Given the description of an element on the screen output the (x, y) to click on. 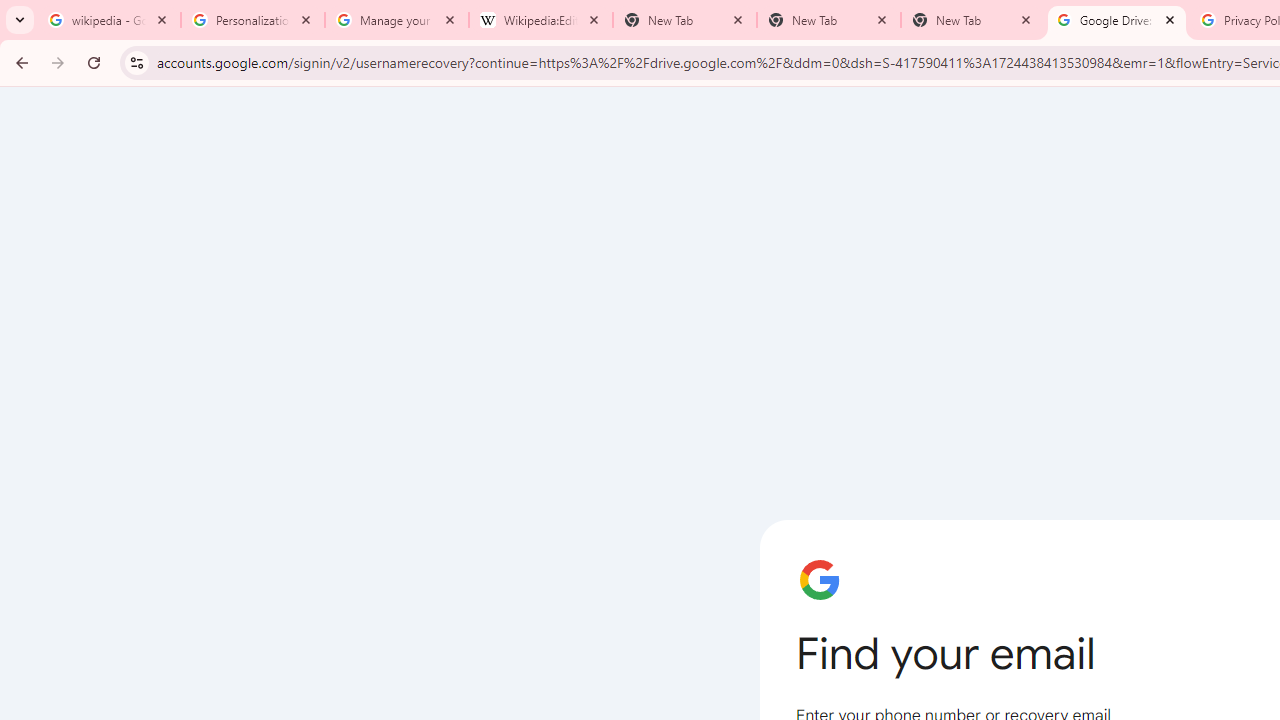
Manage your Location History - Google Search Help (396, 20)
Personalization & Google Search results - Google Search Help (252, 20)
New Tab (972, 20)
New Tab (828, 20)
Google Drive: Sign-in (1116, 20)
